Given the description of an element on the screen output the (x, y) to click on. 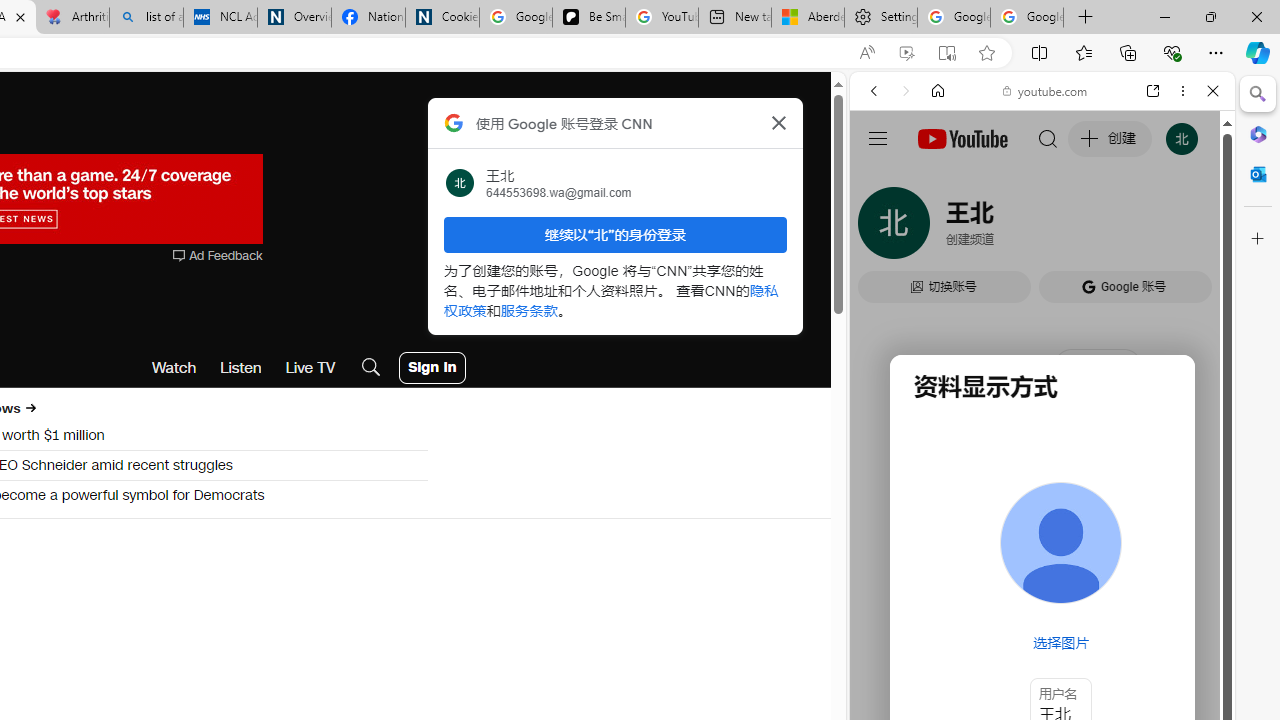
User Account Log In Button (432, 367)
Listen (241, 367)
youtube.com (1046, 90)
Show More Music (1164, 546)
